Given the description of an element on the screen output the (x, y) to click on. 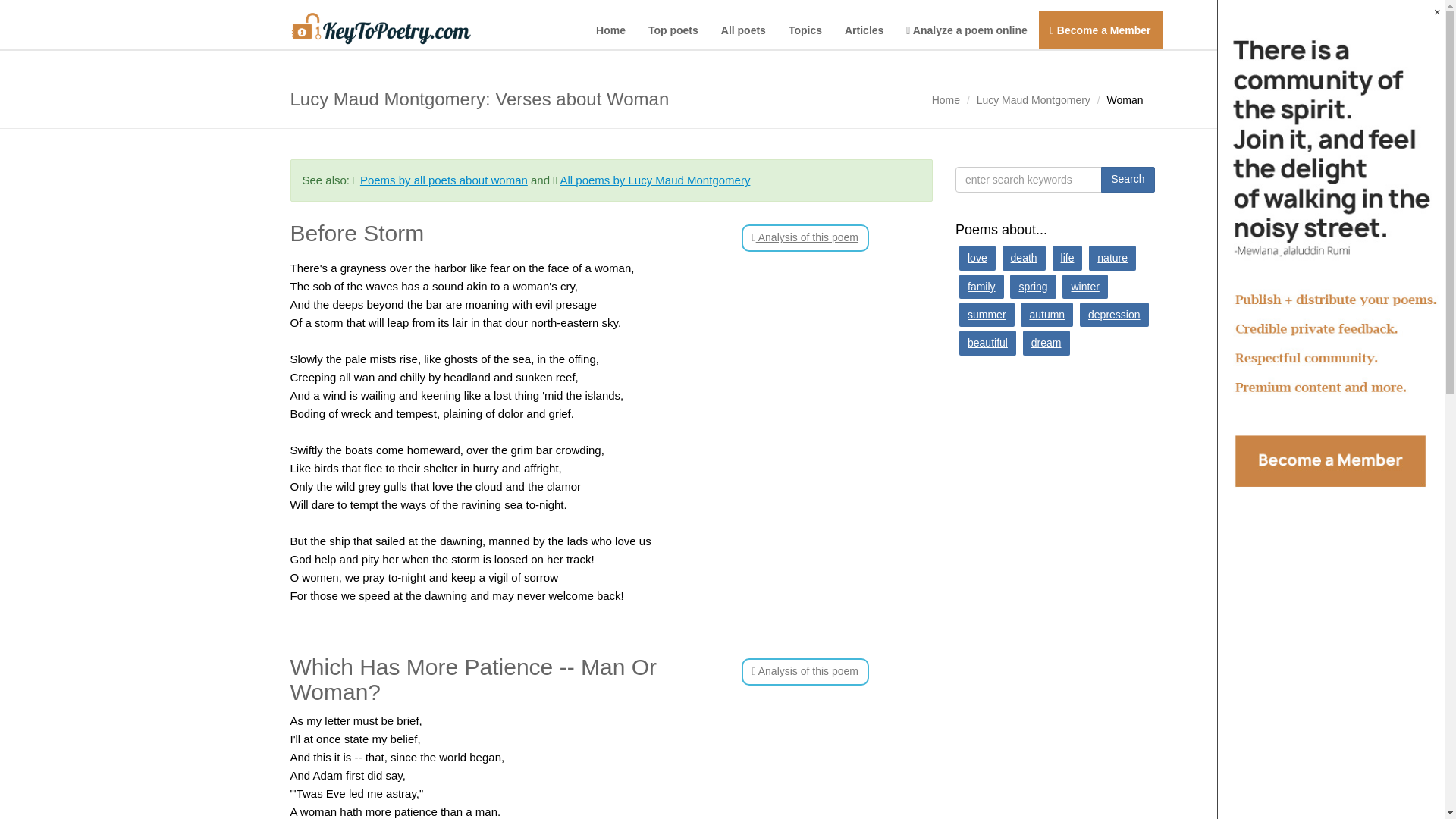
summer (986, 314)
winter (1084, 286)
death (1024, 257)
Articles (863, 30)
nature (1112, 257)
Home (611, 30)
All poets (743, 30)
Analysis of this poem (805, 237)
Poems by all poets about woman (443, 179)
Analysis of this poem (805, 671)
spring (1032, 286)
Become a Member (1100, 30)
All poems by Lucy Maud Montgomery (654, 179)
Top poets (673, 30)
Topics (804, 30)
